Given the description of an element on the screen output the (x, y) to click on. 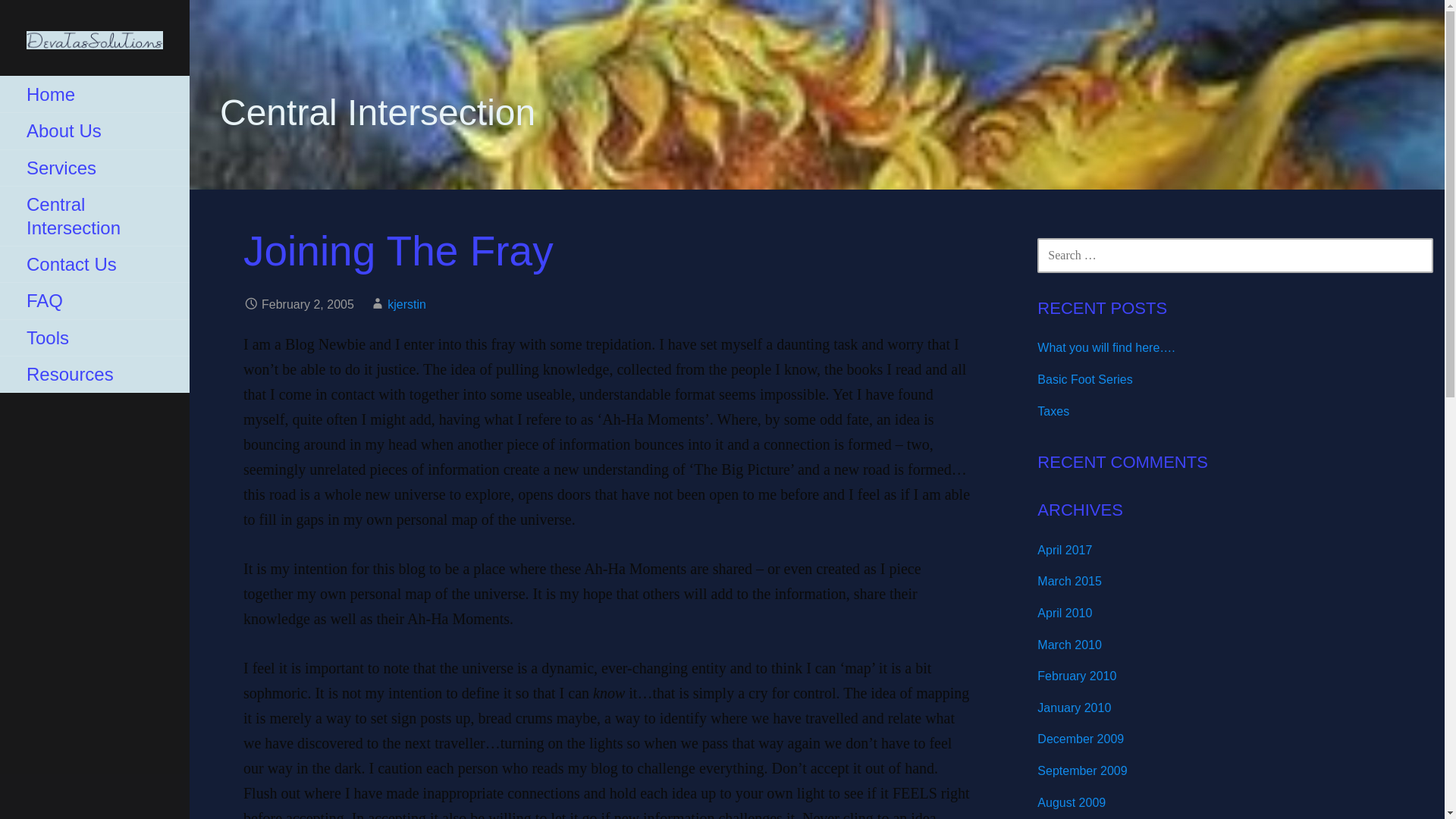
Resources (94, 374)
Tools (94, 338)
December 2009 (1080, 738)
April 2010 (1064, 612)
About Us (94, 131)
Contact Us (94, 264)
March 2010 (1069, 644)
Central Intersection (94, 216)
April 2017 (1064, 549)
kjerstin (406, 304)
